Given the description of an element on the screen output the (x, y) to click on. 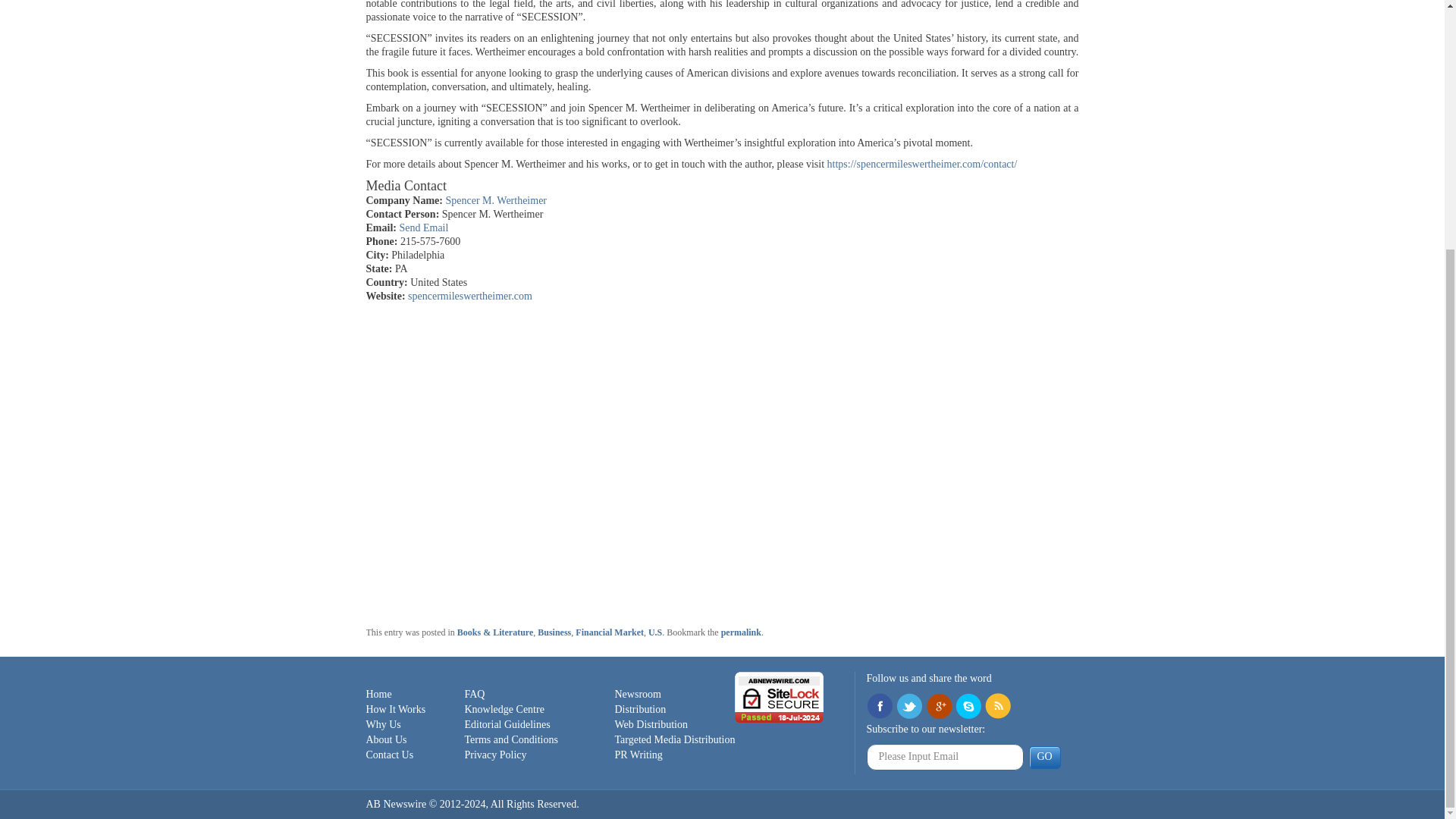
Twitter (908, 707)
Linkdin (937, 707)
Please Input Email (944, 756)
SiteLock (779, 696)
Facebook (878, 707)
RSS (997, 707)
GO (1043, 757)
Skype (968, 707)
